Given the description of an element on the screen output the (x, y) to click on. 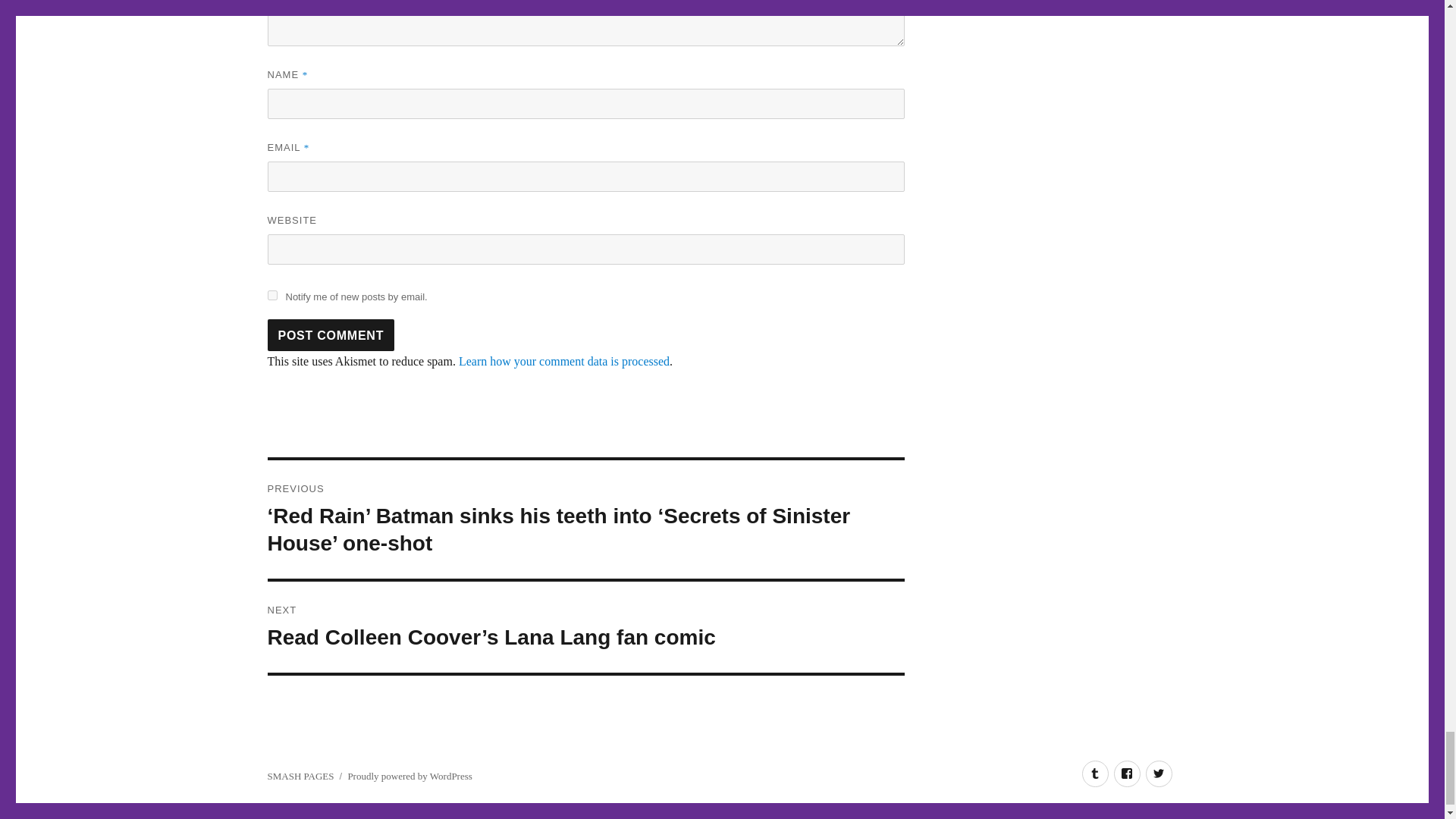
subscribe (271, 295)
Post Comment (330, 335)
Post Comment (330, 335)
Learn how your comment data is processed (563, 360)
